Given the description of an element on the screen output the (x, y) to click on. 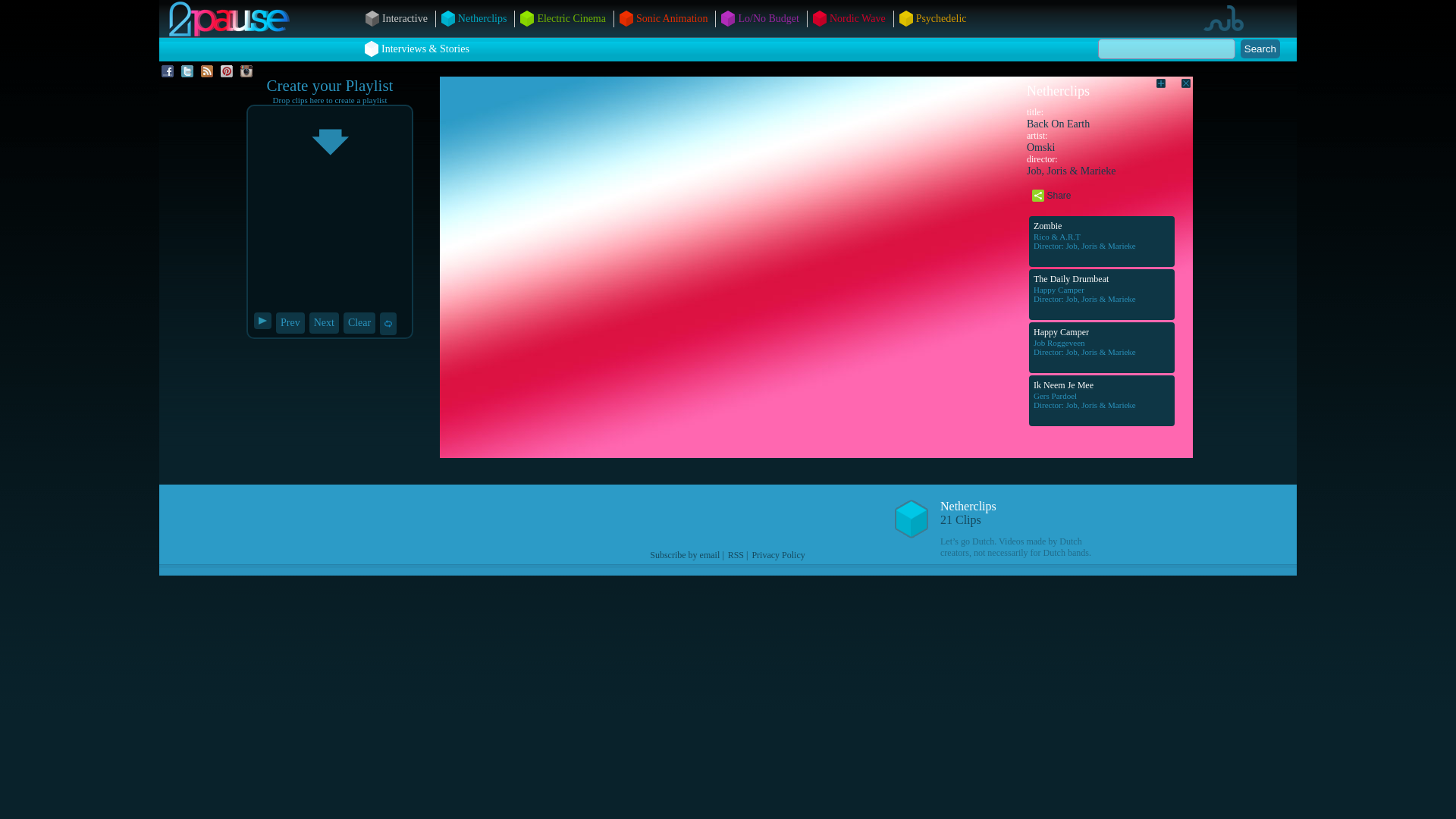
close Element type: hover (1179, 90)
Netherclips Element type: text (482, 18)
Happy Camper
Job Roggeveen
Director: Job, Joris & Marieke Element type: text (1101, 347)
Ik Neem Je Mee
Gers Pardoel
Director: Job, Joris & Marieke Element type: text (1101, 400)
Sumarine Channel on Instagram Element type: hover (246, 71)
Start playlist Element type: hover (262, 320)
Psychedelic Element type: text (941, 18)
RSS Element type: text (735, 554)
2Pause on Twitter Element type: hover (187, 71)
Zombie
Rico & A.R.T
Director: Job, Joris & Marieke Element type: text (1101, 241)
Submarine Channel on Facebook Element type: hover (167, 71)
Subscribe by email Element type: text (684, 554)
Sonic Animation Element type: text (672, 18)
Add to Playlist Element type: hover (1154, 90)
RSS feed Element type: hover (206, 71)
YouTube video player Element type: hover (728, 243)
Interviews & Stories Element type: text (425, 48)
Interactive Element type: text (404, 18)
Lo/No Budget Element type: text (768, 18)
Nordic Wave Element type: text (857, 18)
Repeat playlist Element type: hover (387, 323)
Search Element type: text (1260, 48)
2Pause on Pinterest Element type: hover (226, 71)
Privacy Policy Element type: text (777, 554)
Electric Cinema Element type: text (570, 18)
